Given the description of an element on the screen output the (x, y) to click on. 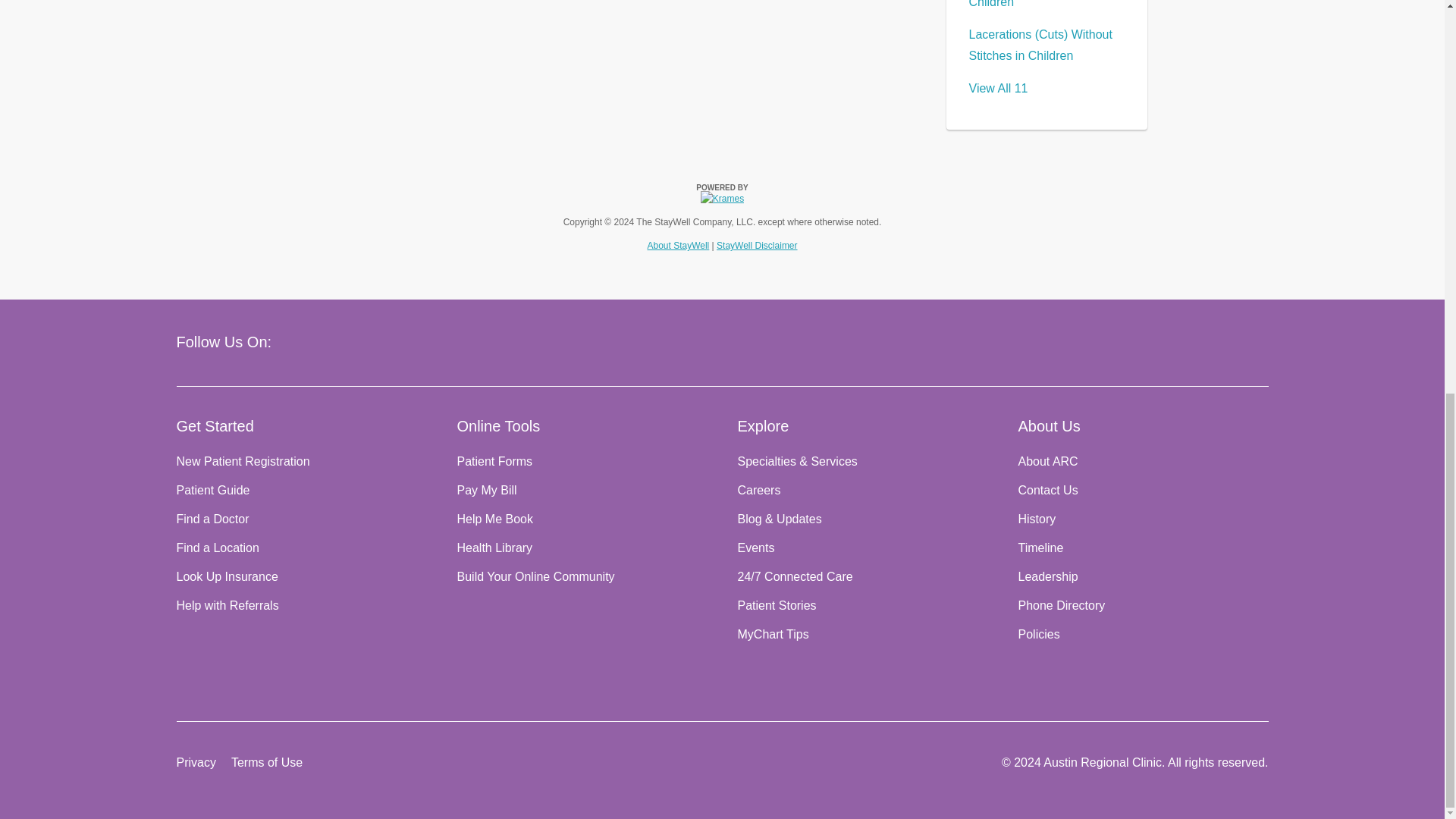
Krames (722, 198)
Eyelid Lacerations in Children (1025, 4)
